Given the description of an element on the screen output the (x, y) to click on. 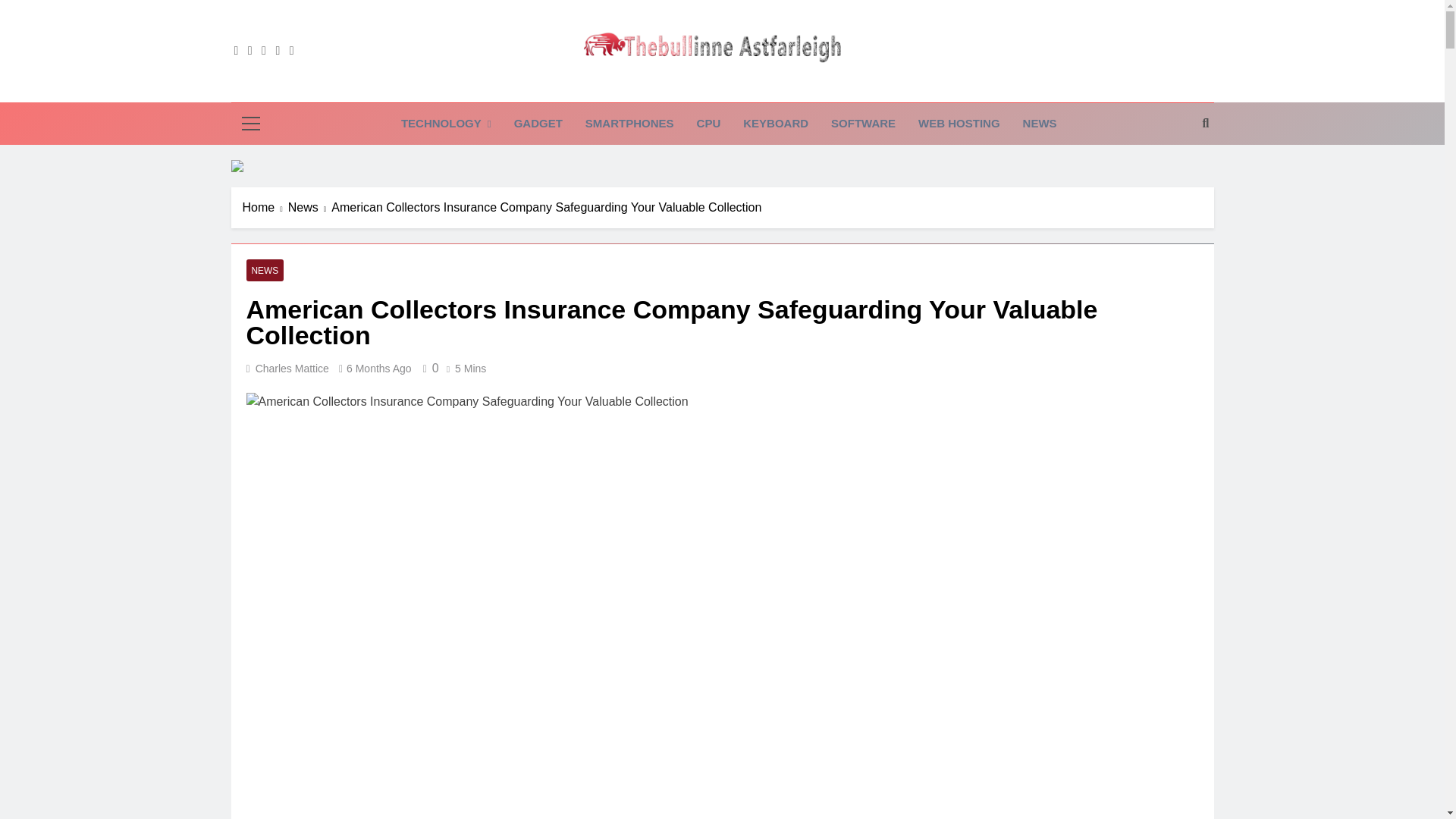
GADGET (537, 123)
KEYBOARD (775, 123)
CPU (708, 123)
WEB HOSTING (959, 123)
SOFTWARE (863, 123)
Thebullinne Astfarleigh (653, 88)
SMARTPHONES (629, 123)
TECHNOLOGY (446, 123)
NEWS (1039, 123)
